Given the description of an element on the screen output the (x, y) to click on. 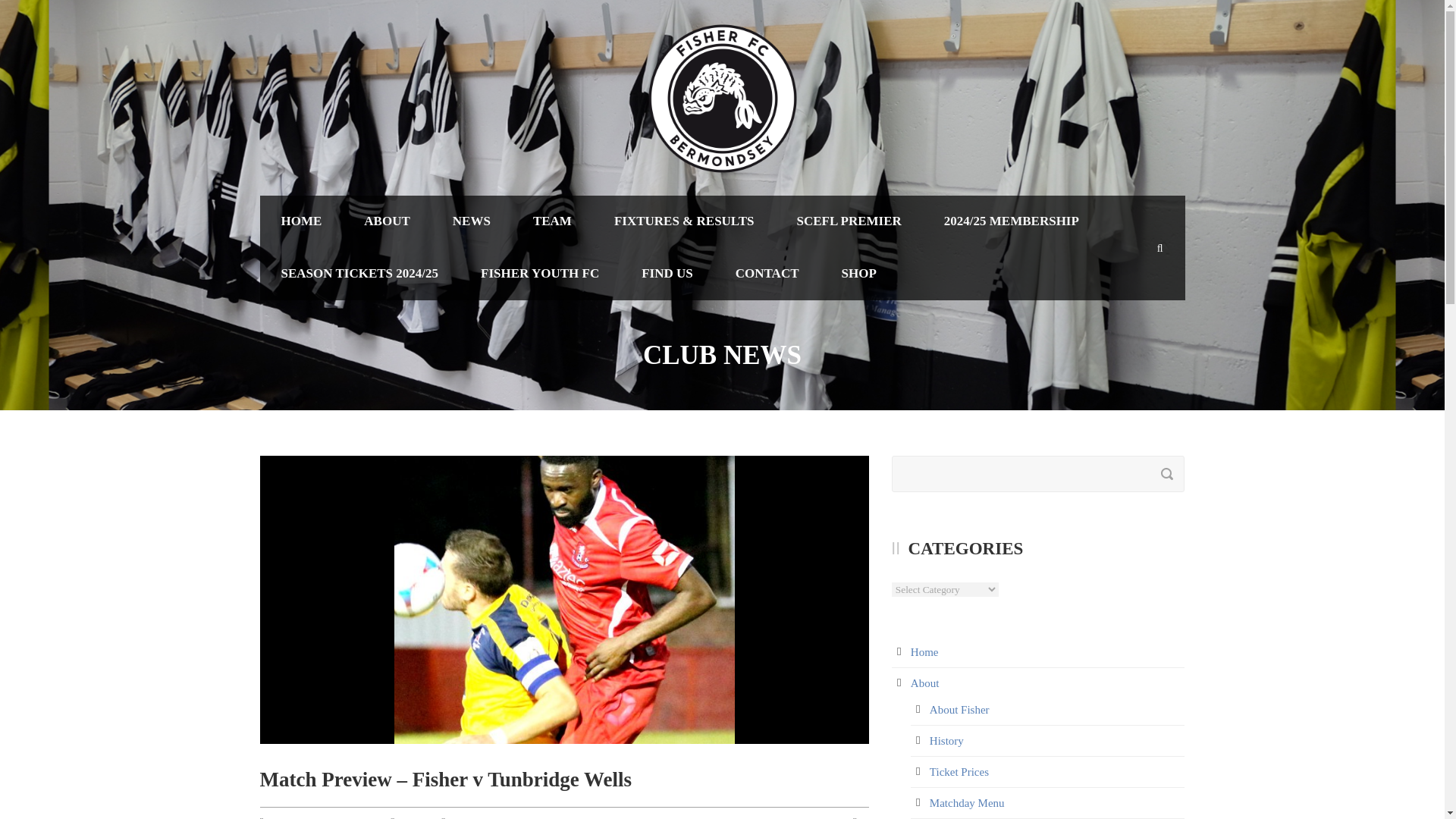
ABOUT (386, 221)
Posts by Editor (413, 817)
HOME (300, 221)
